Given the description of an element on the screen output the (x, y) to click on. 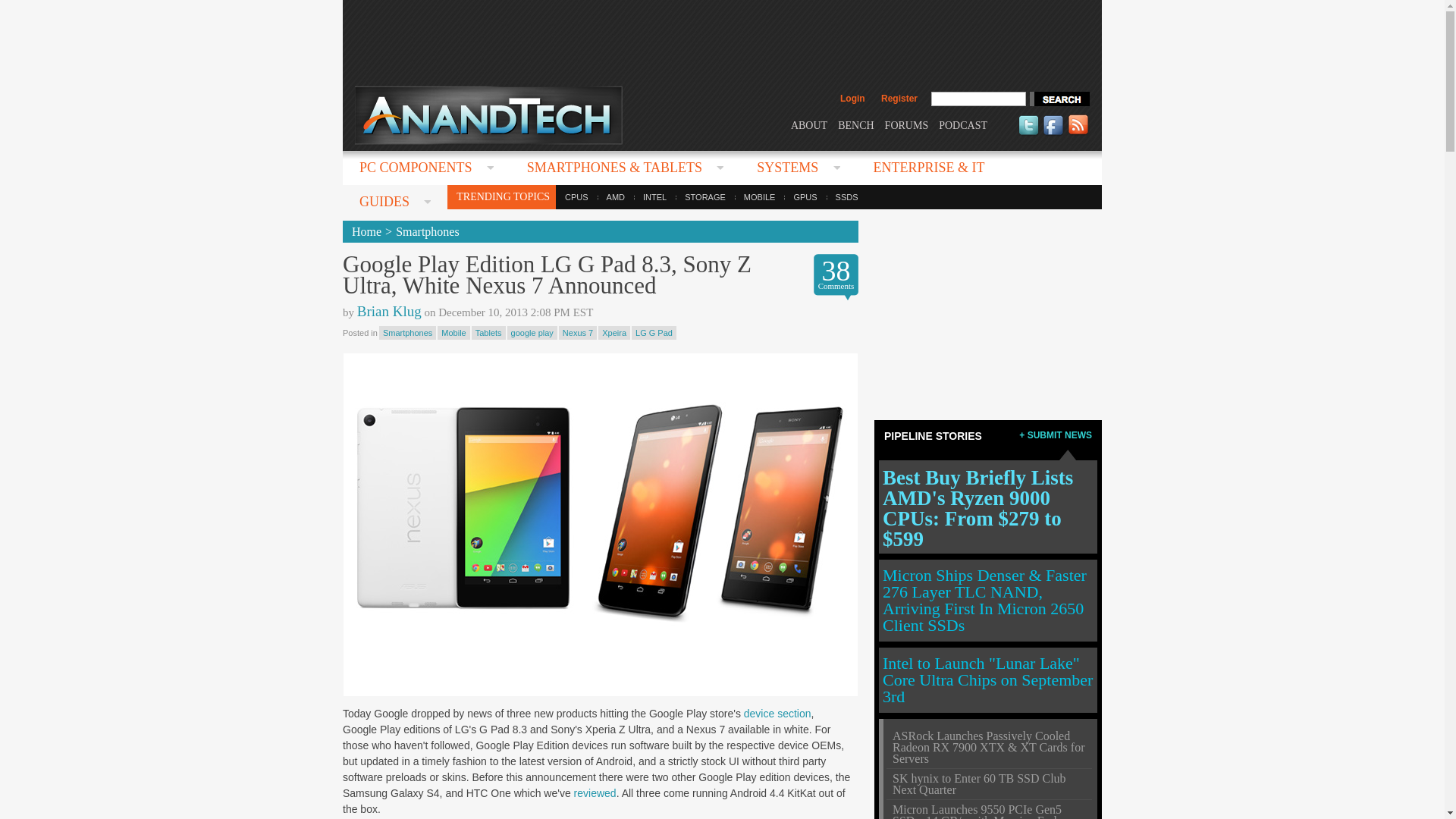
FORUMS (906, 125)
BENCH (855, 125)
PODCAST (963, 125)
search (1059, 98)
Register (898, 98)
ABOUT (808, 125)
search (1059, 98)
search (1059, 98)
Login (852, 98)
